Given the description of an element on the screen output the (x, y) to click on. 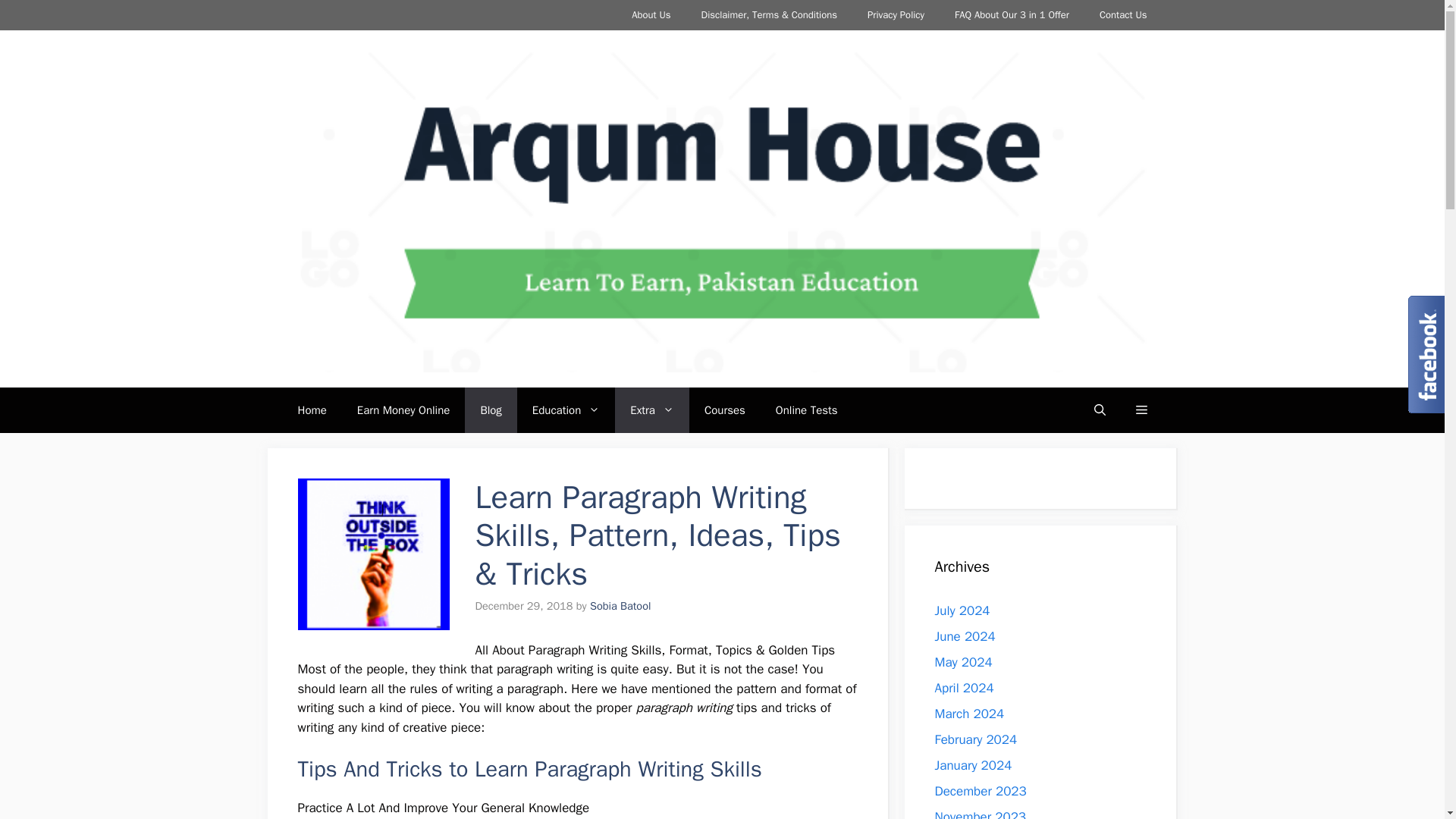
Earn Money Online (403, 410)
Courses (724, 410)
Privacy Policy (895, 15)
Blog (490, 410)
Education (565, 410)
Contact Us (1122, 15)
View all posts by Sobia Batool (619, 605)
FAQ About Our 3 in 1 Offer (1011, 15)
Extra (651, 410)
About Us (650, 15)
